Given the description of an element on the screen output the (x, y) to click on. 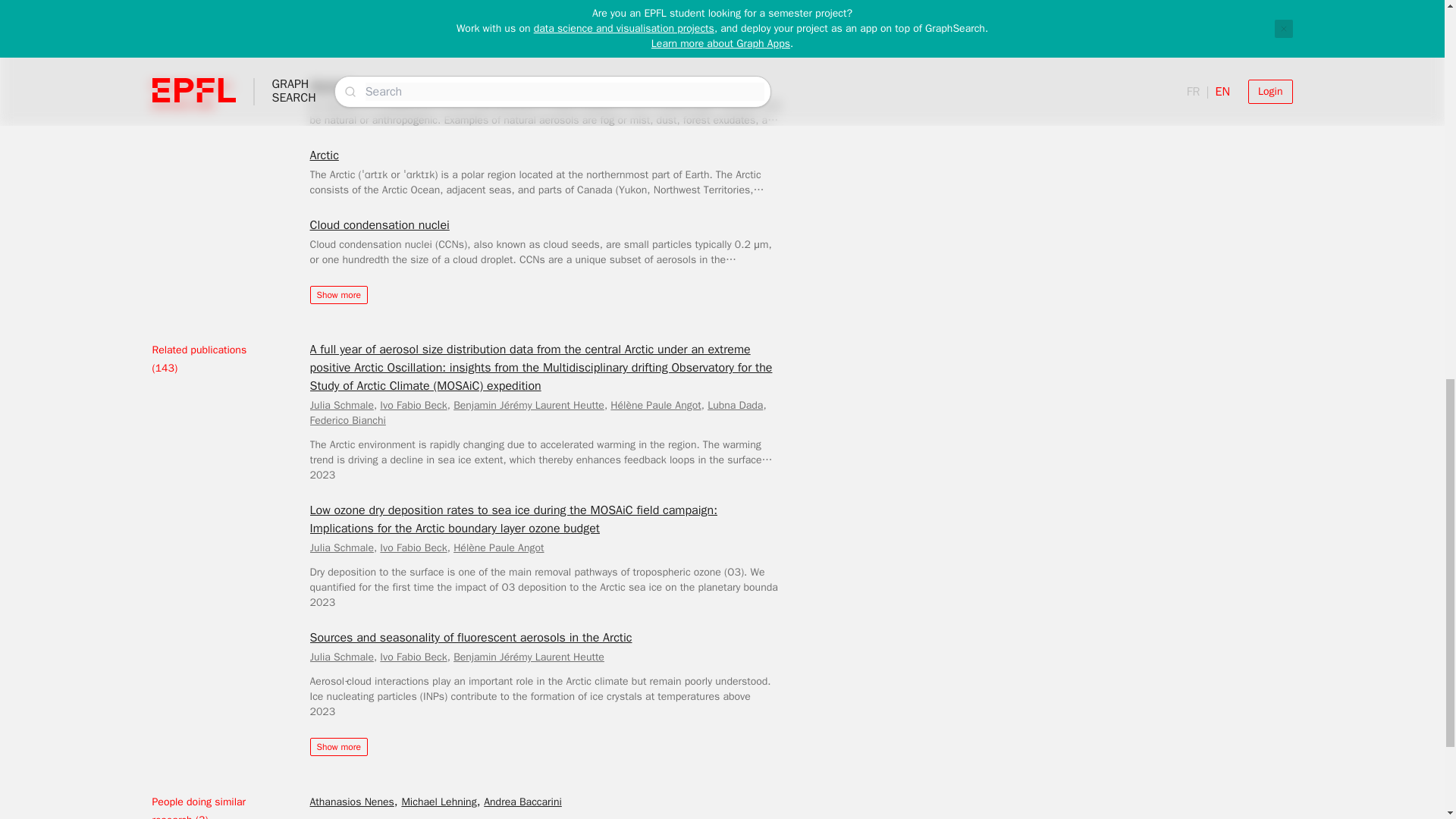
Aerosol (328, 85)
Cloud condensation nuclei (378, 225)
Show more (337, 294)
Julia Schmale (340, 404)
Arctic (322, 155)
